Given the description of an element on the screen output the (x, y) to click on. 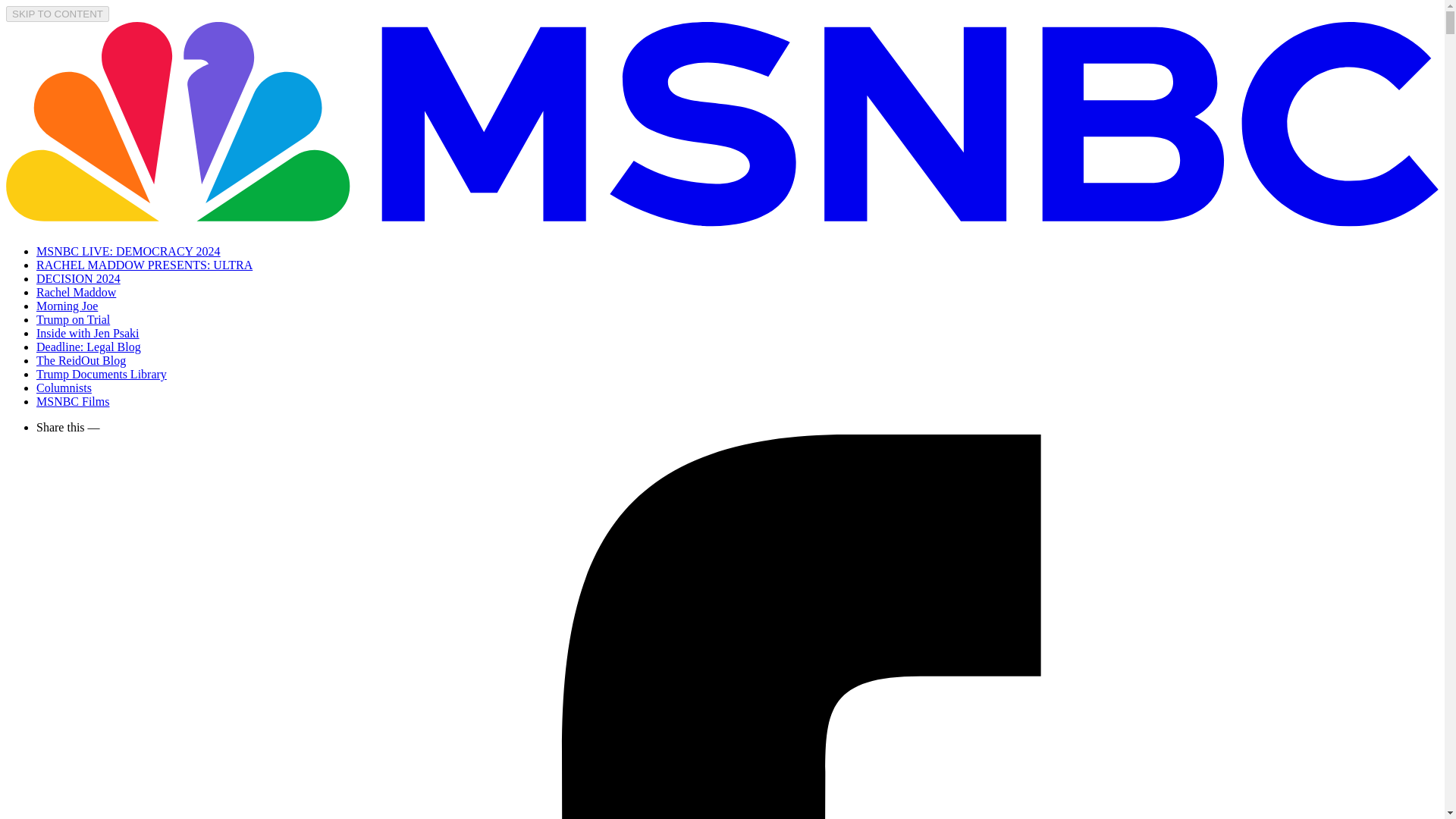
Rachel Maddow (76, 291)
Morning Joe (66, 305)
Trump Documents Library (101, 373)
MSNBC Films (72, 400)
SKIP TO CONTENT (57, 13)
The ReidOut Blog (80, 359)
MSNBC LIVE: DEMOCRACY 2024 (128, 250)
Deadline: Legal Blog (88, 346)
RACHEL MADDOW PRESENTS: ULTRA (143, 264)
Columnists (63, 387)
Trump on Trial (73, 318)
Inside with Jen Psaki (87, 332)
DECISION 2024 (78, 278)
